Given the description of an element on the screen output the (x, y) to click on. 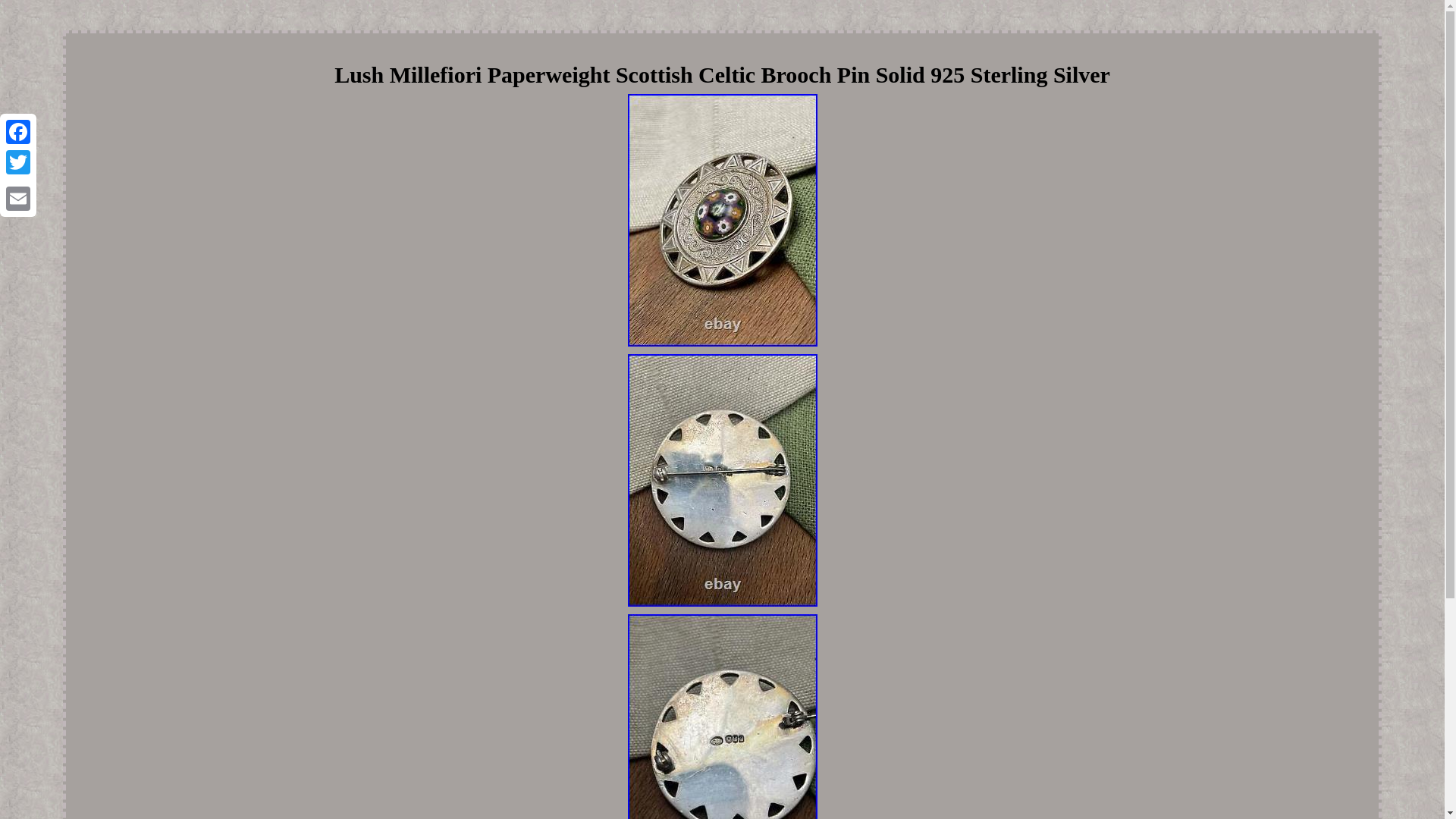
Email (17, 198)
Twitter (17, 162)
Facebook (17, 132)
